Given the description of an element on the screen output the (x, y) to click on. 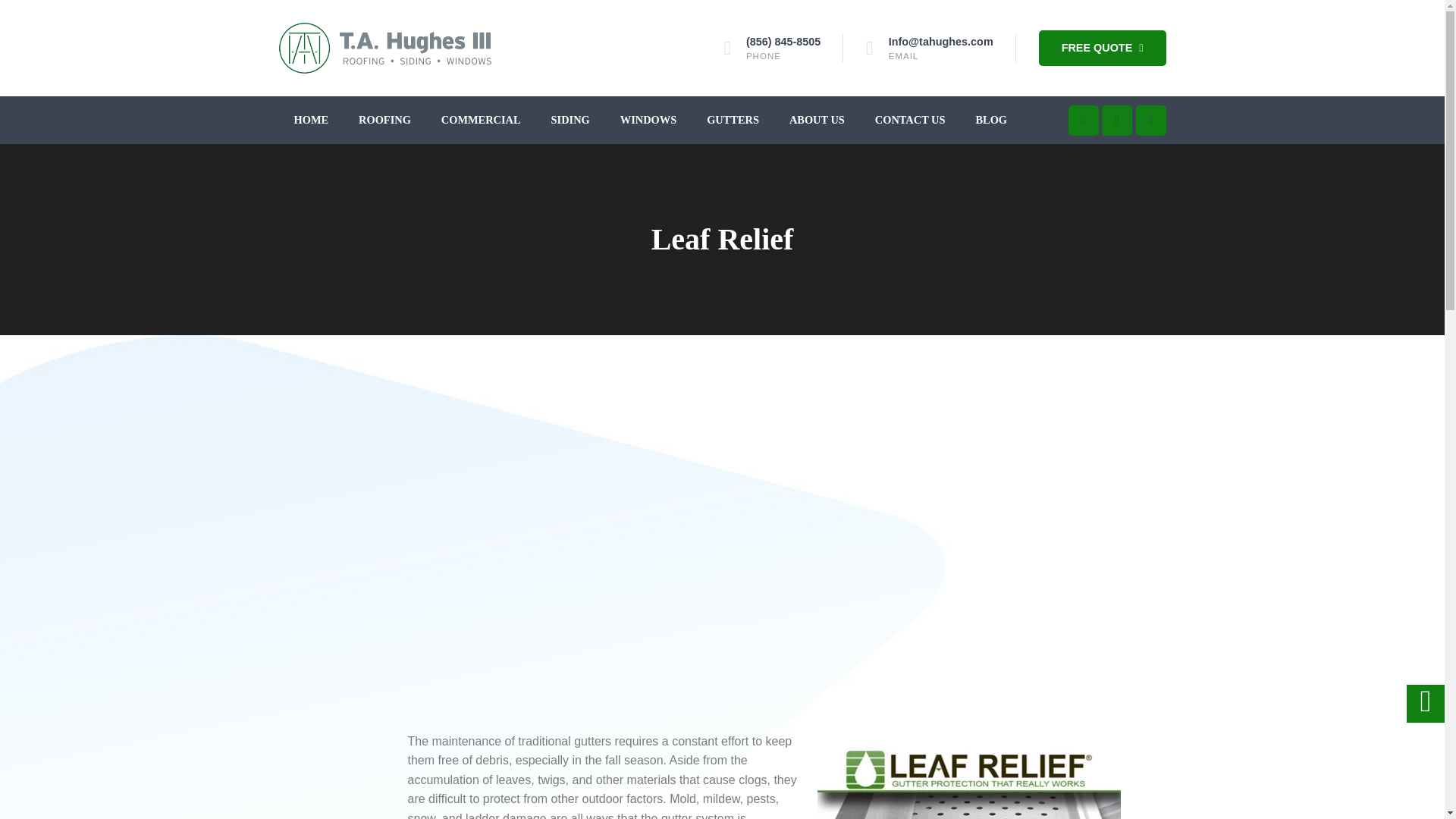
South Jersey Replacement Window and Door Contractor (648, 119)
South Jersey Siding Contractor (569, 119)
ABOUT US (816, 119)
WINDOWS (648, 119)
BLOG (991, 119)
SIDING (569, 119)
ROOFING (384, 119)
ABOUT US (816, 119)
HOME (311, 119)
COMMERCIAL (480, 119)
CONTACT US (910, 119)
FREE QUOTE (1102, 48)
Leaf Relief Gutter Protection (968, 775)
CONTACT US (910, 119)
SOUTH JERSEY ROOFING CONTRACTOR (384, 119)
